Given the description of an element on the screen output the (x, y) to click on. 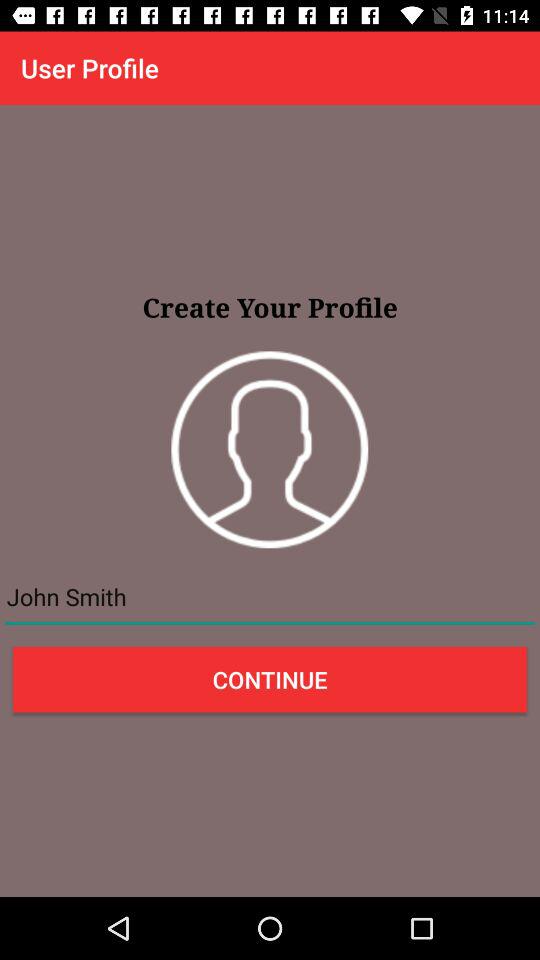
tap icon above john smith item (269, 449)
